Given the description of an element on the screen output the (x, y) to click on. 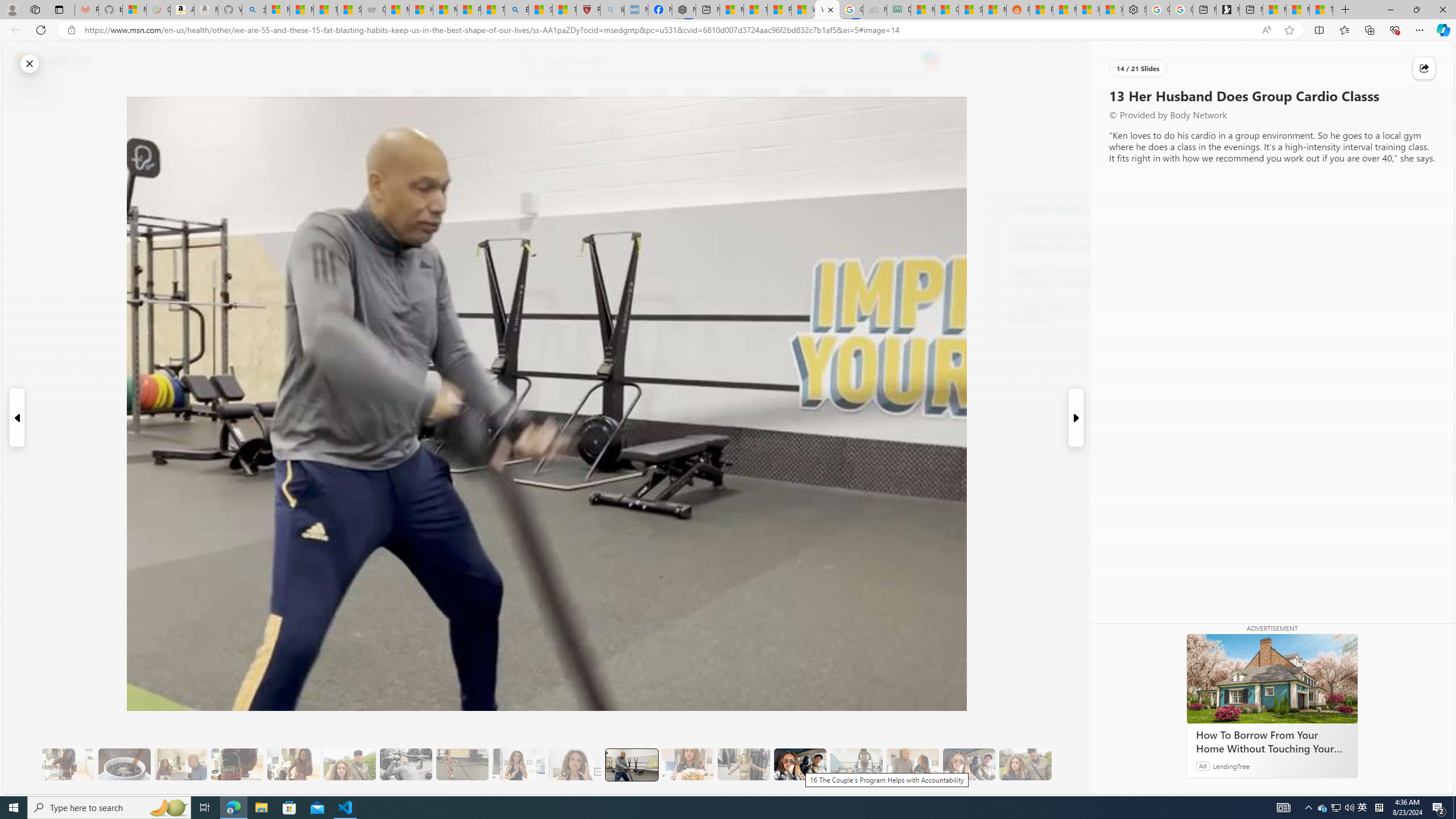
Share this story (1423, 67)
Crime (657, 92)
Enter your search term (730, 59)
Following (373, 92)
Skip to footer (46, 59)
Entertainment (753, 92)
Body Network (449, 147)
New tab (1251, 9)
Class: button-glyph (292, 92)
App bar (728, 29)
